Given the description of an element on the screen output the (x, y) to click on. 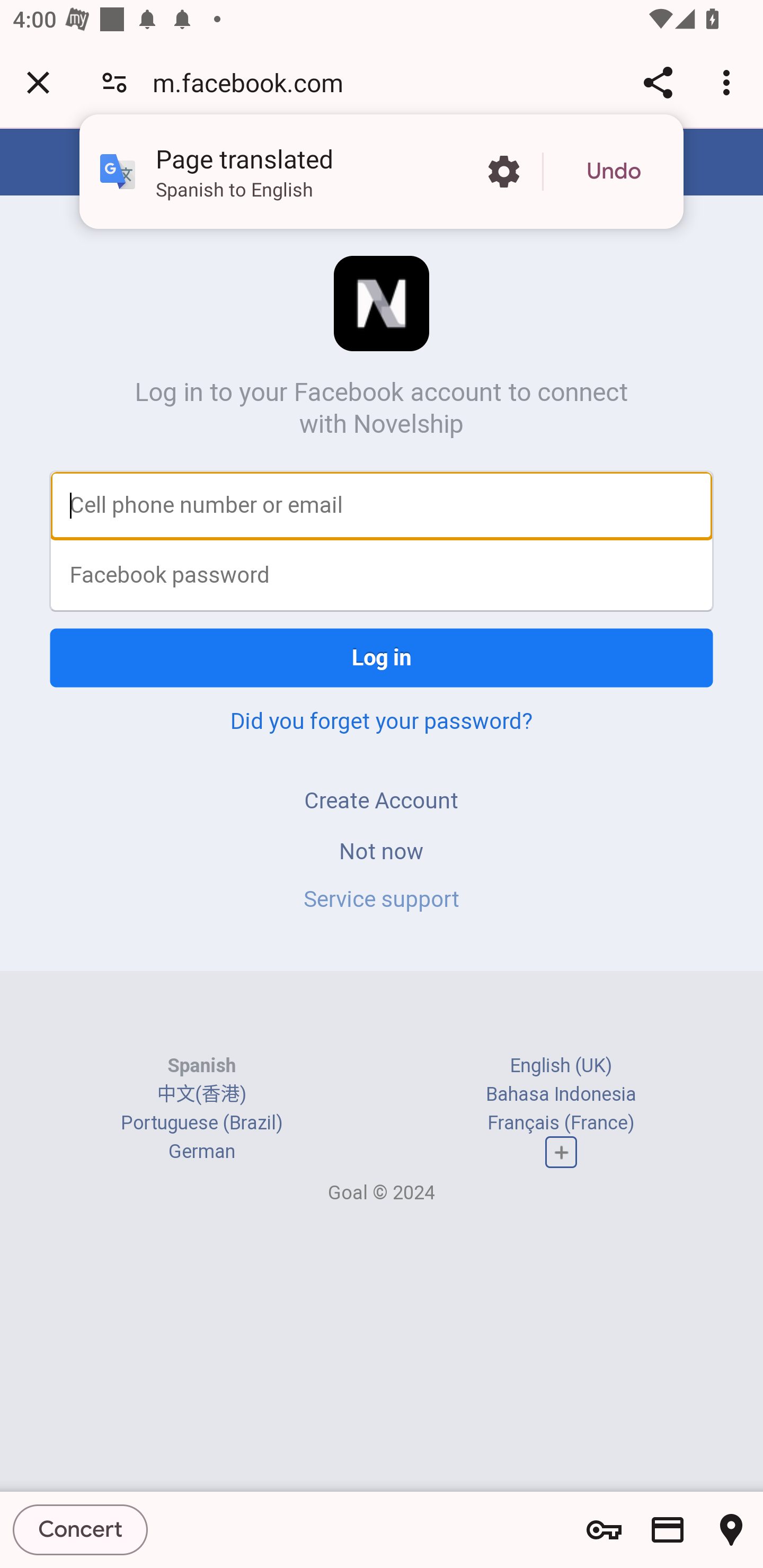
Close tab (38, 82)
Share (657, 82)
Customize and control Google Chrome (729, 82)
Connection is secure (114, 81)
m.facebook.com (254, 81)
Undo (613, 171)
More options in the Page translated (503, 171)
Log in (381, 657)
Did you forget your password? (381, 720)
Create Account (381, 800)
Not now (381, 850)
Service support (381, 898)
English (UK) (560, 1065)
中文(香港) (201, 1093)
Bahasa Indonesia (560, 1093)
Portuguese (Brazil) (201, 1122)
Français (France) (560, 1122)
Full list of languages (560, 1152)
German (201, 1151)
Concert (80, 1529)
Show saved passwords and password options (603, 1530)
Show saved payment methods (667, 1530)
Show saved addresses (731, 1530)
